Given the description of an element on the screen output the (x, y) to click on. 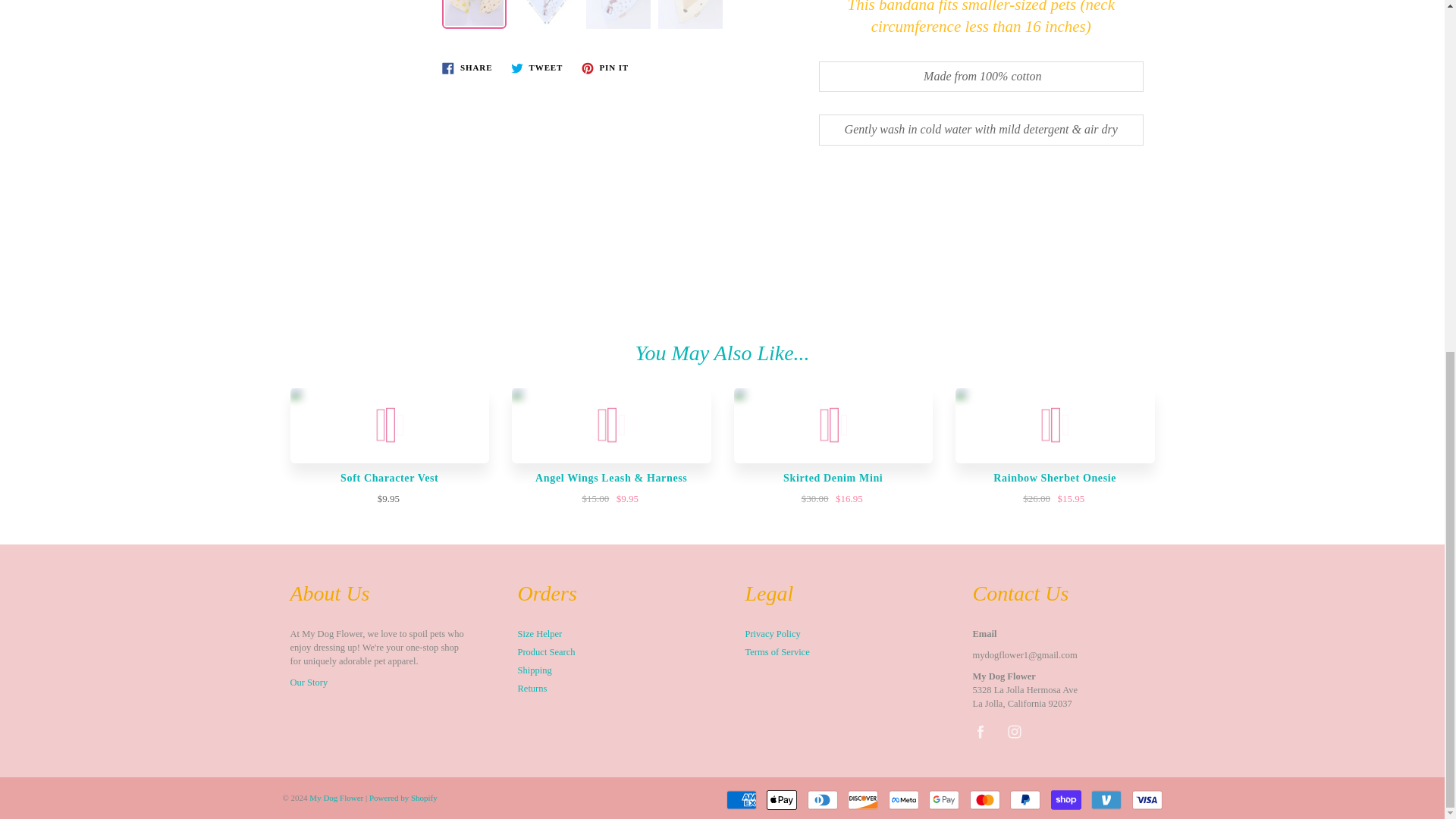
American Express (741, 799)
Apple Pay (781, 799)
Discover (862, 799)
Diners Club (821, 799)
Mastercard (983, 799)
Meta Pay (903, 799)
Venmo (1105, 799)
PayPal (1025, 799)
Google Pay (943, 799)
Visa (1146, 799)
